Given the description of an element on the screen output the (x, y) to click on. 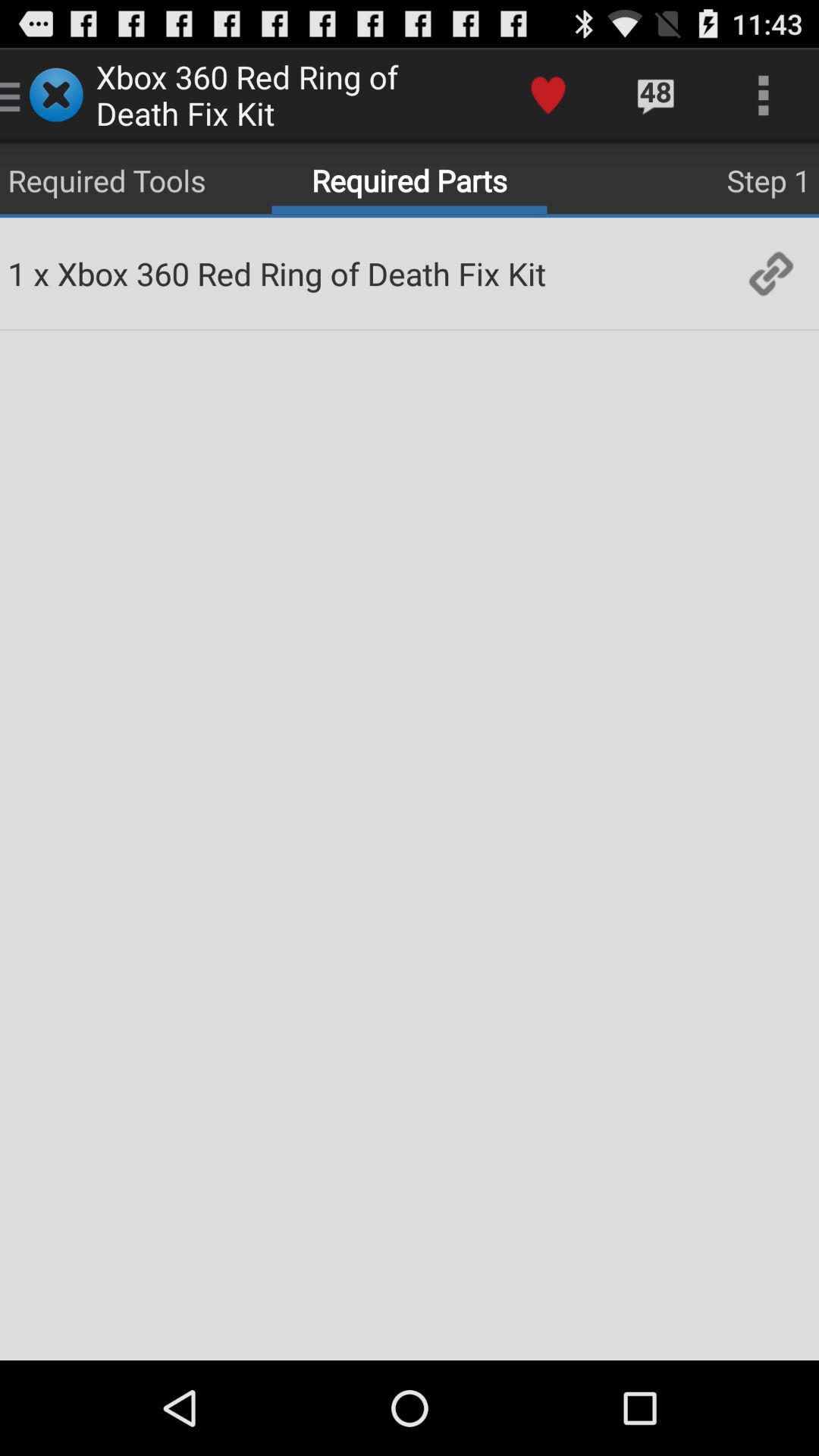
tap the item next to x app (16, 273)
